Given the description of an element on the screen output the (x, y) to click on. 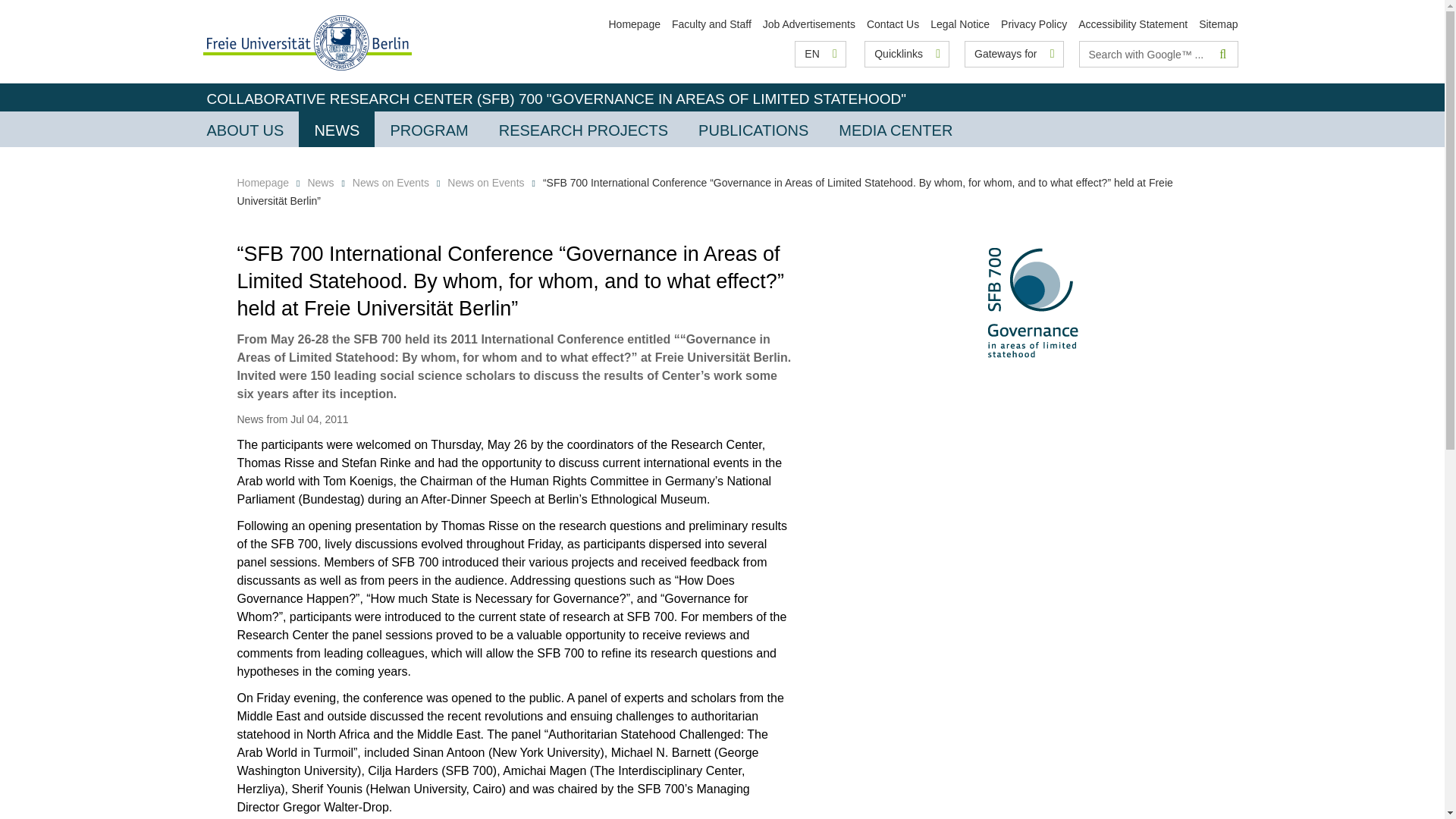
Legal Notice (960, 24)
Contact Us (892, 24)
Sitemap (1217, 24)
Homepage (634, 24)
Job Advertisements (809, 24)
Accessibility Statement (1133, 24)
Privacy Policy (1034, 24)
Faculty and Staff (711, 24)
